Given the description of an element on the screen output the (x, y) to click on. 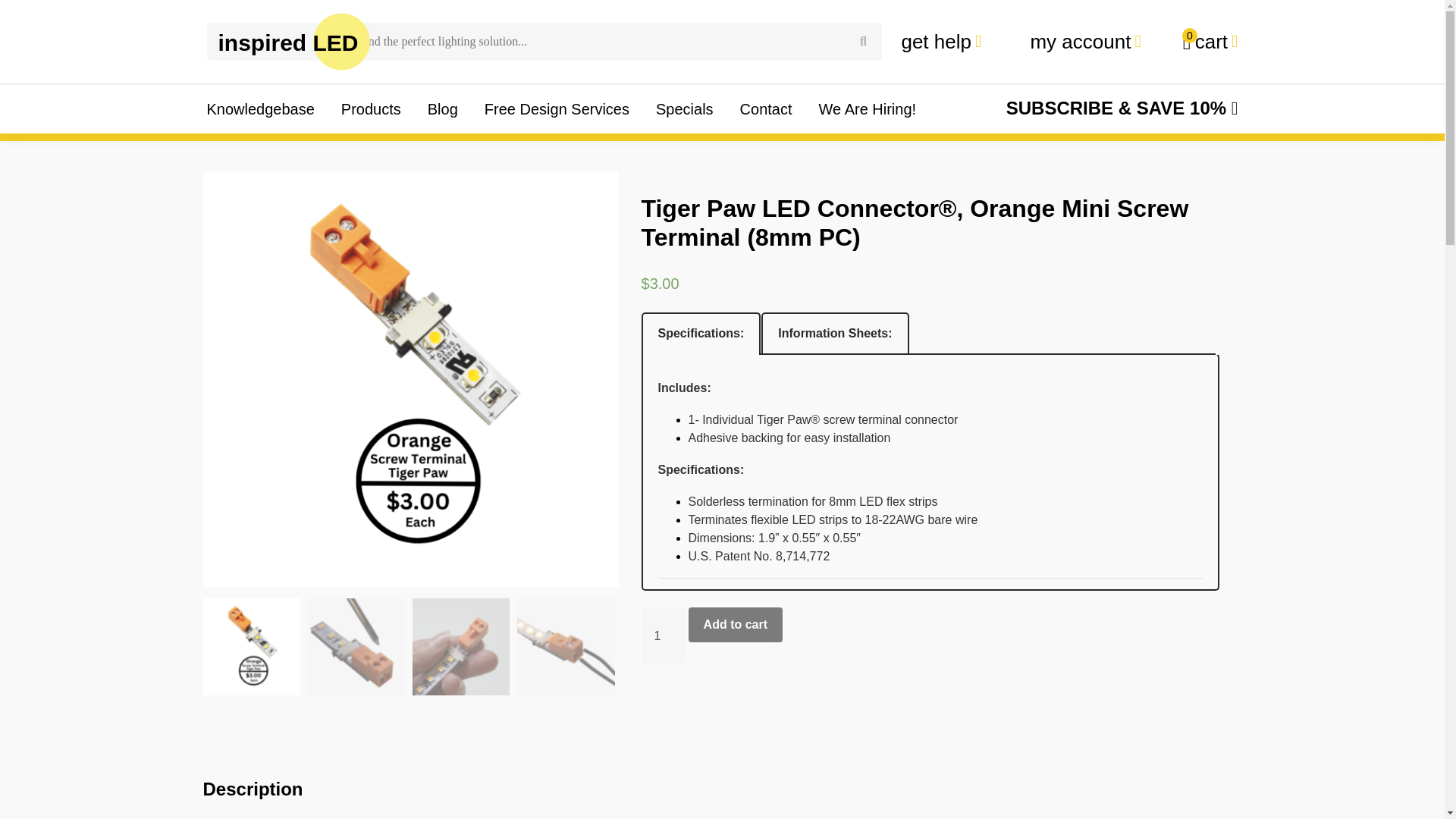
Information Sheets: (834, 333)
Blog (442, 109)
get help (946, 41)
Knowledgebase (259, 109)
my account (1084, 41)
Specials (683, 109)
Free Design Services (557, 109)
inspired LED (287, 41)
Search (1209, 41)
Contact (863, 41)
Add to cart (765, 109)
We Are Hiring! (735, 624)
Specifications: (867, 109)
